Given the description of an element on the screen output the (x, y) to click on. 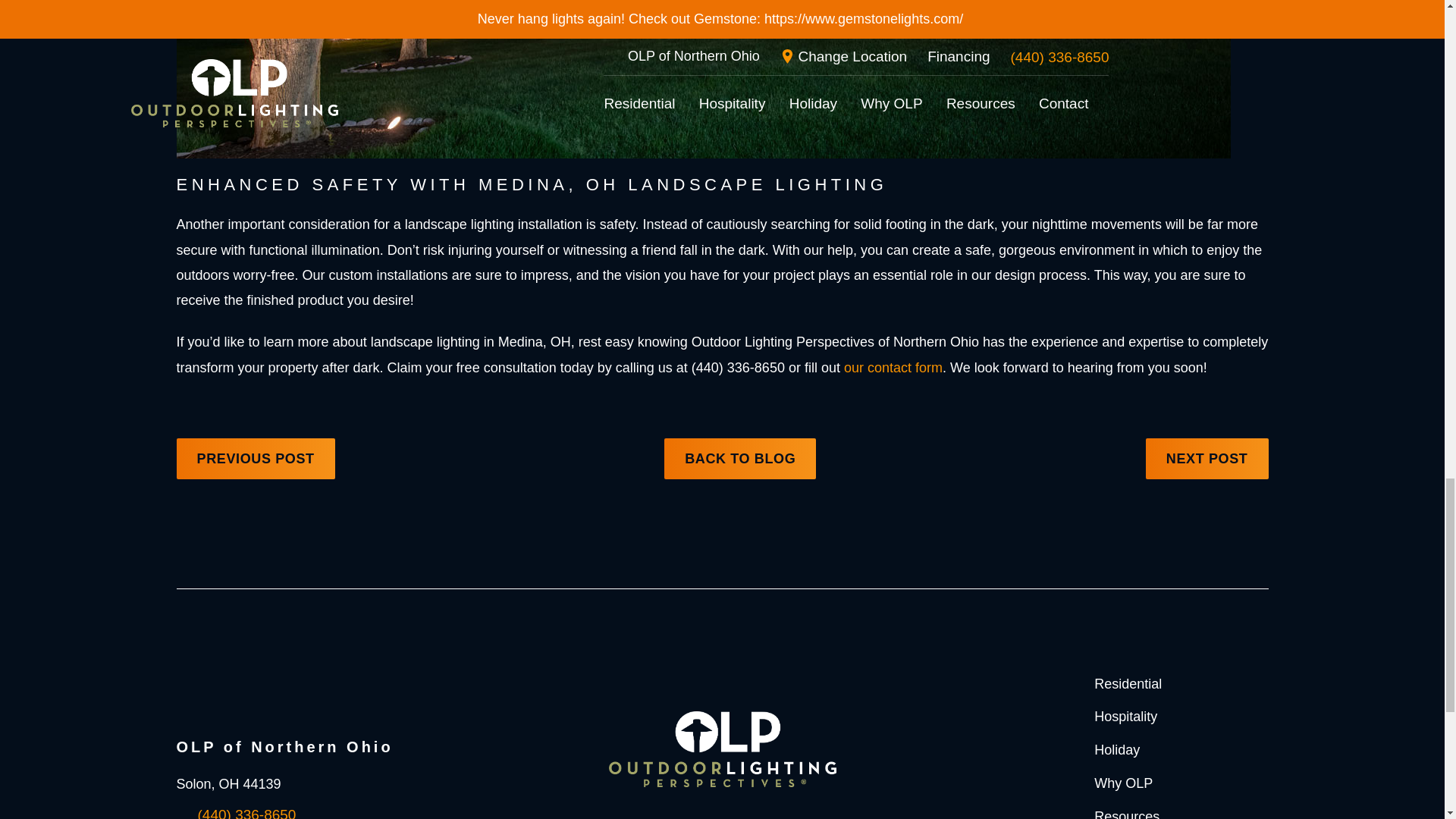
facebook (655, 814)
pinterest (788, 814)
instagram (722, 814)
youtube (689, 814)
Outdoor Lighting Perspectives (721, 749)
houzz (754, 814)
